Given the description of an element on the screen output the (x, y) to click on. 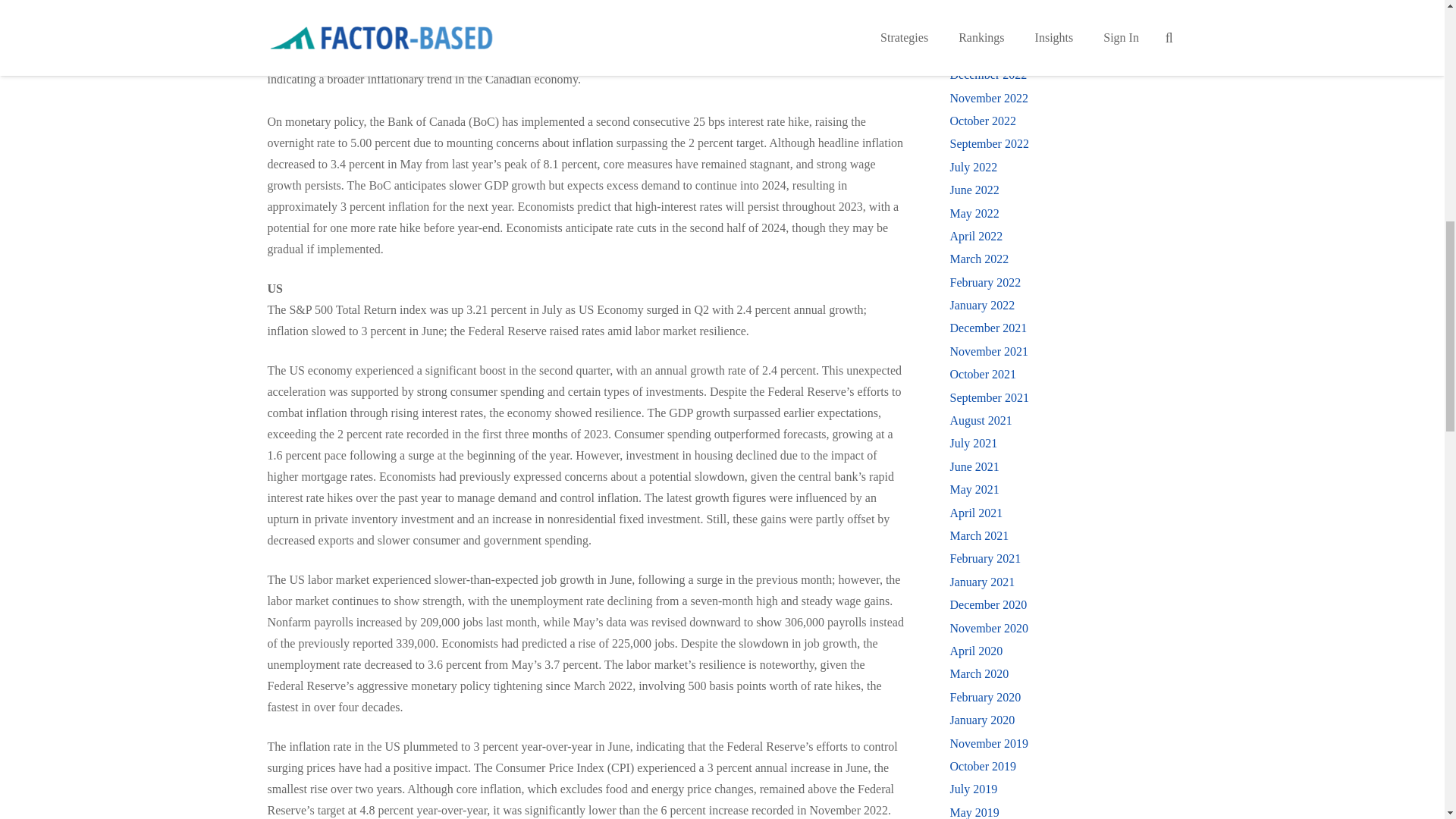
May 2022 (973, 213)
February 2023 (984, 28)
June 2022 (973, 189)
March 2023 (979, 6)
Back to top (1413, 26)
April 2022 (976, 236)
October 2022 (982, 120)
January 2023 (981, 51)
July 2022 (973, 166)
November 2022 (988, 97)
September 2022 (988, 143)
December 2022 (987, 74)
